Given the description of an element on the screen output the (x, y) to click on. 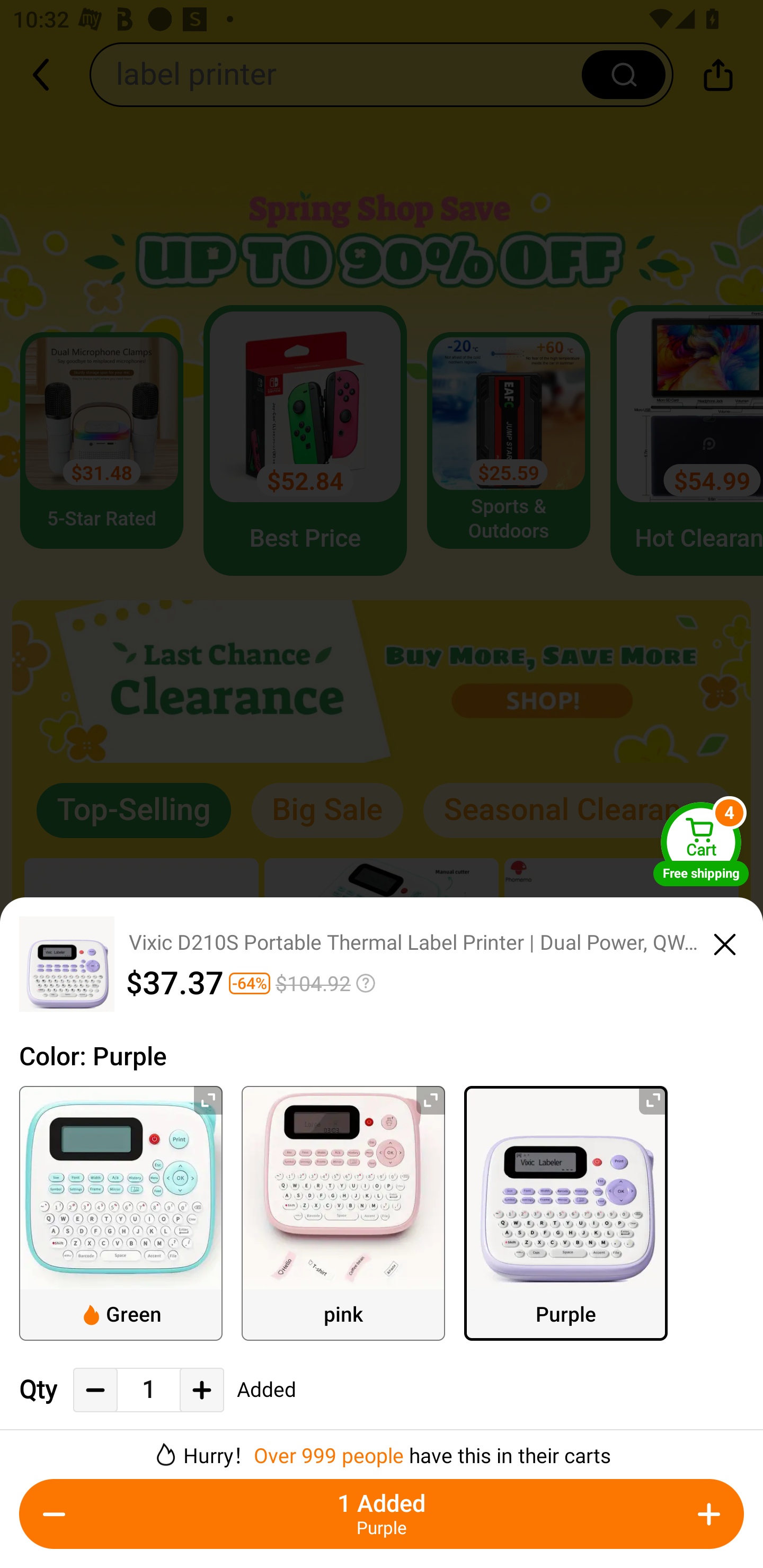
Cart Free shipping Cart (701, 844)
close (724, 941)
Green ￼Green (120, 1213)
pink (342, 1213)
Purple (565, 1213)
Decrease Quantity Button (95, 1389)
Add Quantity Button (201, 1389)
1 (148, 1389)
￼￼Hurry！Over 999 people have this in their carts (381, 1448)
Decrease Quantity Button (54, 1513)
1 Added Purple (381, 1513)
Add Quantity Button (708, 1513)
